Given the description of an element on the screen output the (x, y) to click on. 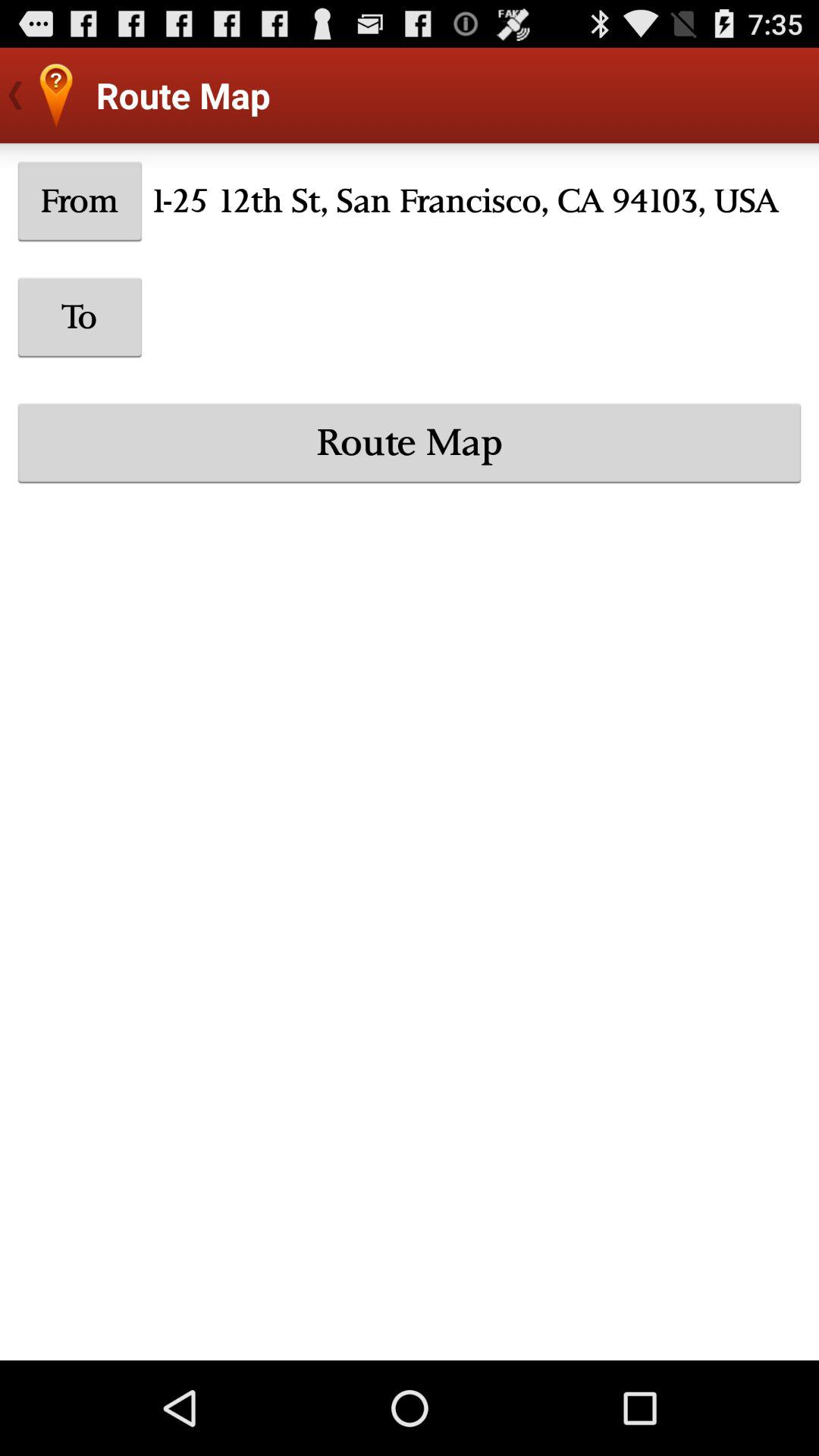
launch icon above route map item (79, 317)
